Given the description of an element on the screen output the (x, y) to click on. 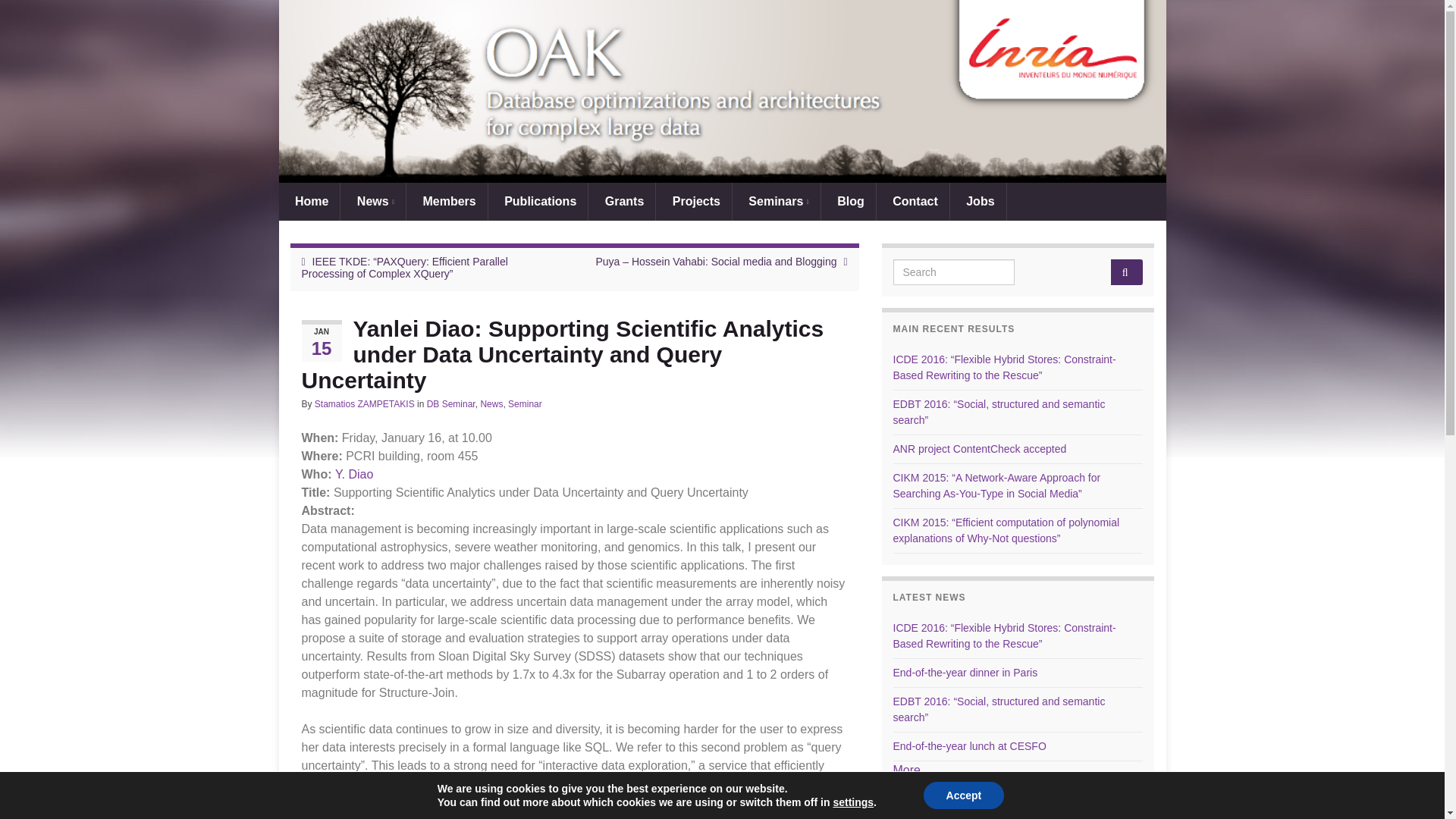
Contact (912, 201)
More... (912, 769)
Projects (694, 201)
Home (309, 201)
Y. Diao (353, 473)
Publications (537, 201)
News (491, 403)
Jobs (978, 201)
Grants (621, 201)
ANR project ContentCheck accepted (980, 449)
Seminar (524, 403)
Members (446, 201)
Stamatios ZAMPETAKIS (364, 403)
End-of-the-year lunch at CESFO (969, 746)
